Given the description of an element on the screen output the (x, y) to click on. 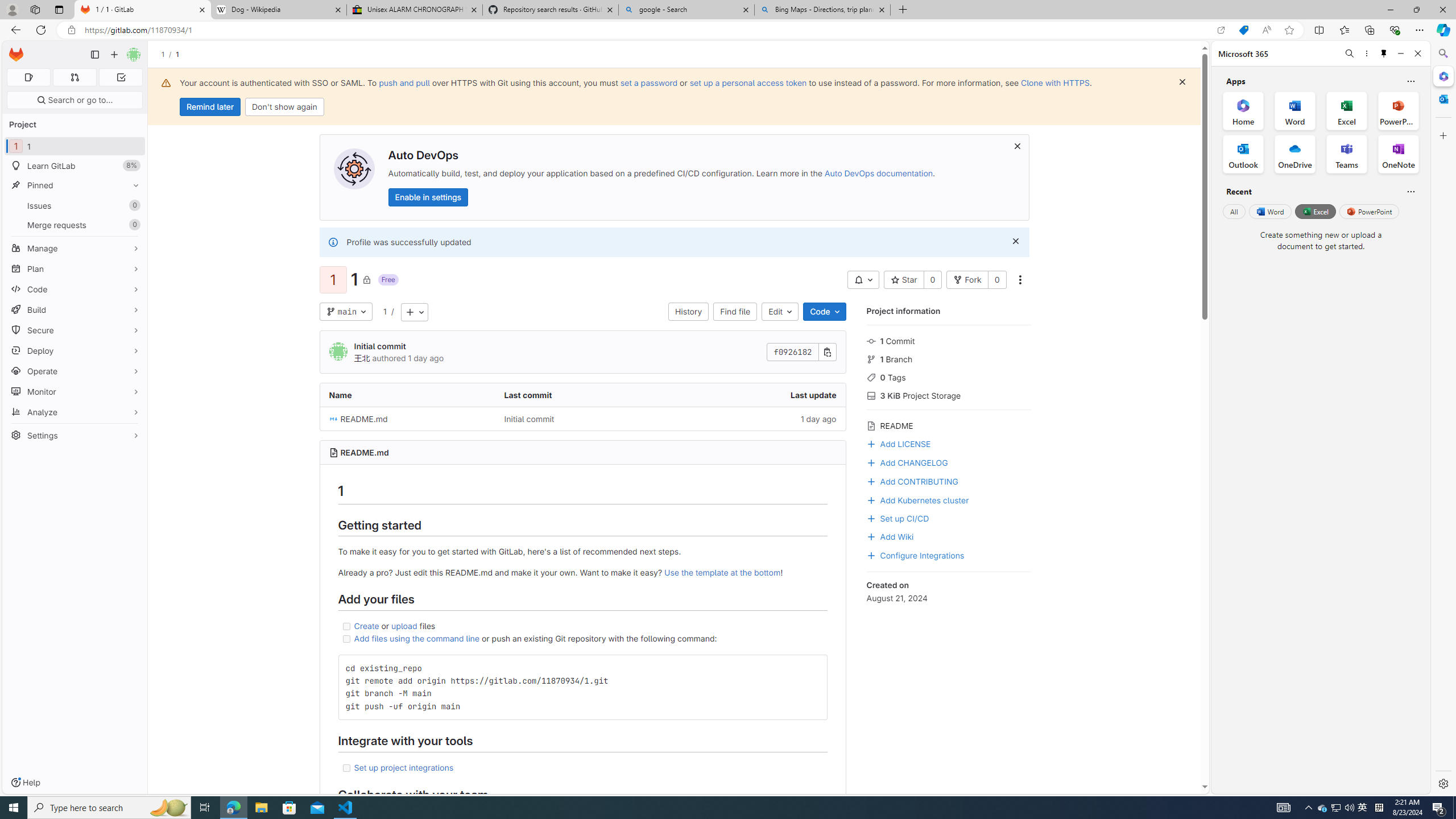
Minimize (1401, 53)
OneDrive Office App (1295, 154)
Add this page to favorites (Ctrl+D) (1289, 29)
Assigned issues 0 (28, 76)
Plan (74, 268)
Class: s16 gl-text-blue-500! gl-mr-3 (871, 481)
Add Kubernetes cluster (917, 498)
Search (1442, 53)
Learn GitLab 8% (74, 165)
Unpin side pane (1383, 53)
Last update (757, 395)
Refresh (40, 29)
Add LICENSE (898, 442)
Add Kubernetes cluster (948, 498)
